Given the description of an element on the screen output the (x, y) to click on. 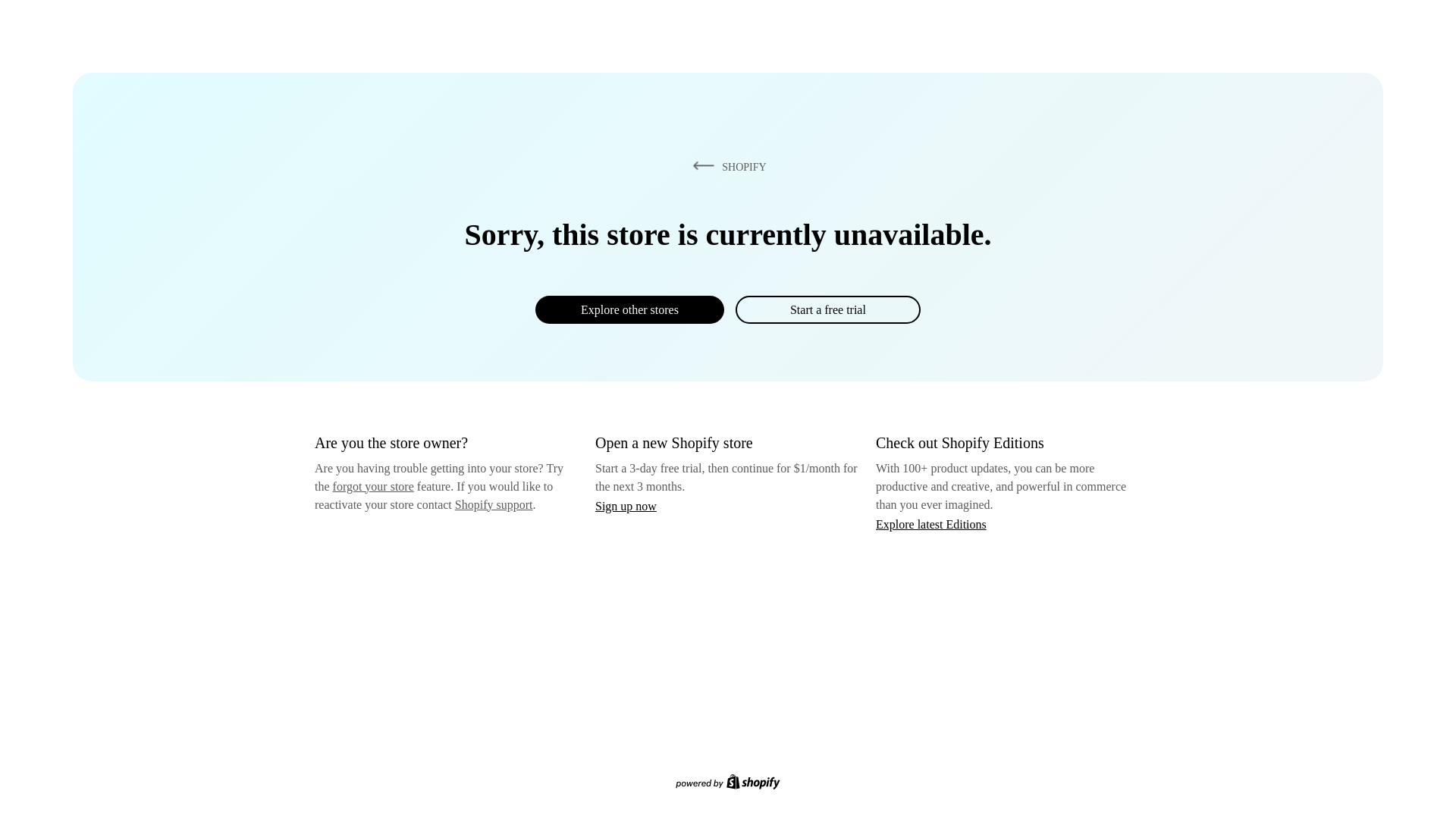
forgot your store (373, 486)
Shopify support (493, 504)
Explore latest Editions (931, 523)
Explore other stores (629, 309)
Sign up now (625, 505)
SHOPIFY (726, 166)
Start a free trial (827, 309)
